Given the description of an element on the screen output the (x, y) to click on. 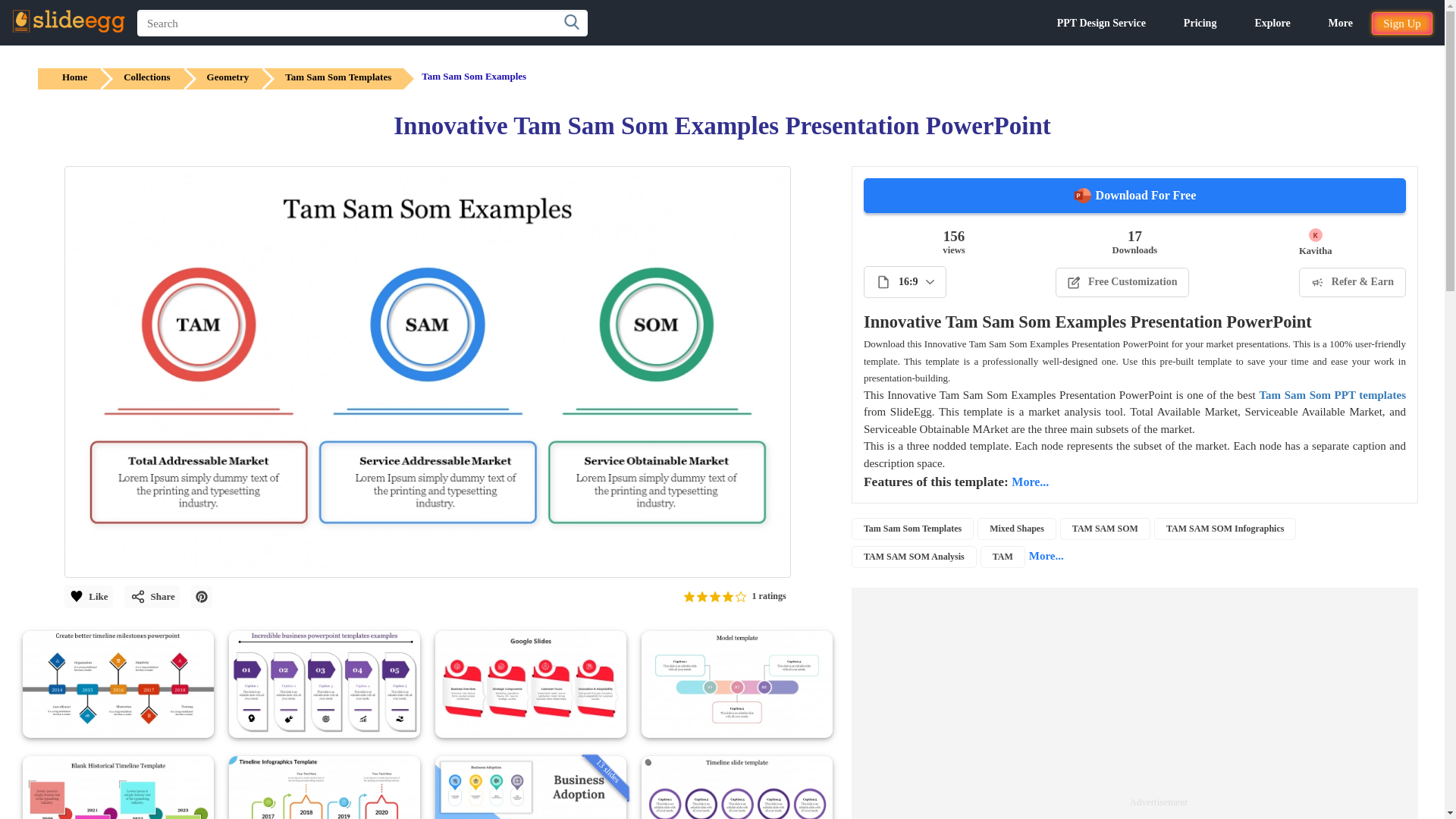
SlideEgg (68, 21)
Explore (1271, 22)
Pricing (1200, 22)
PPT Design Service (1101, 22)
